Given the description of an element on the screen output the (x, y) to click on. 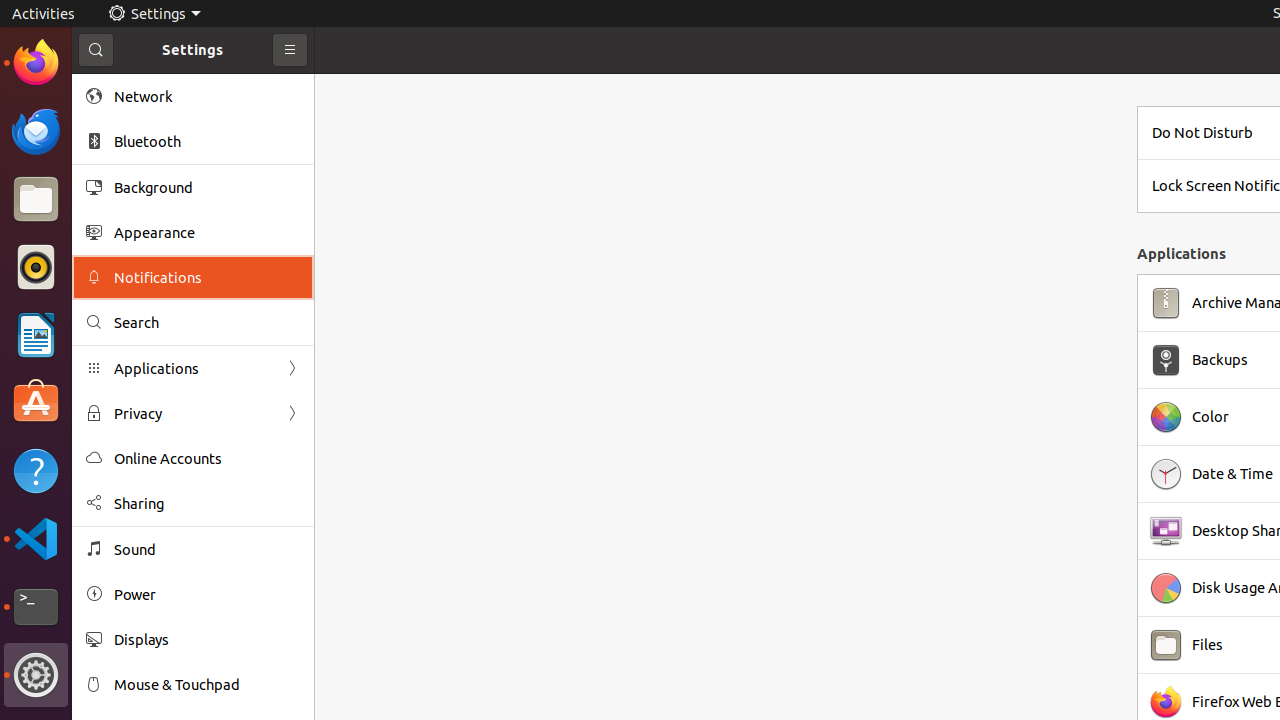
Bluetooth Element type: label (207, 141)
Appearance Element type: label (207, 232)
Forward Element type: icon (292, 413)
Displays Element type: label (207, 639)
